Given the description of an element on the screen output the (x, y) to click on. 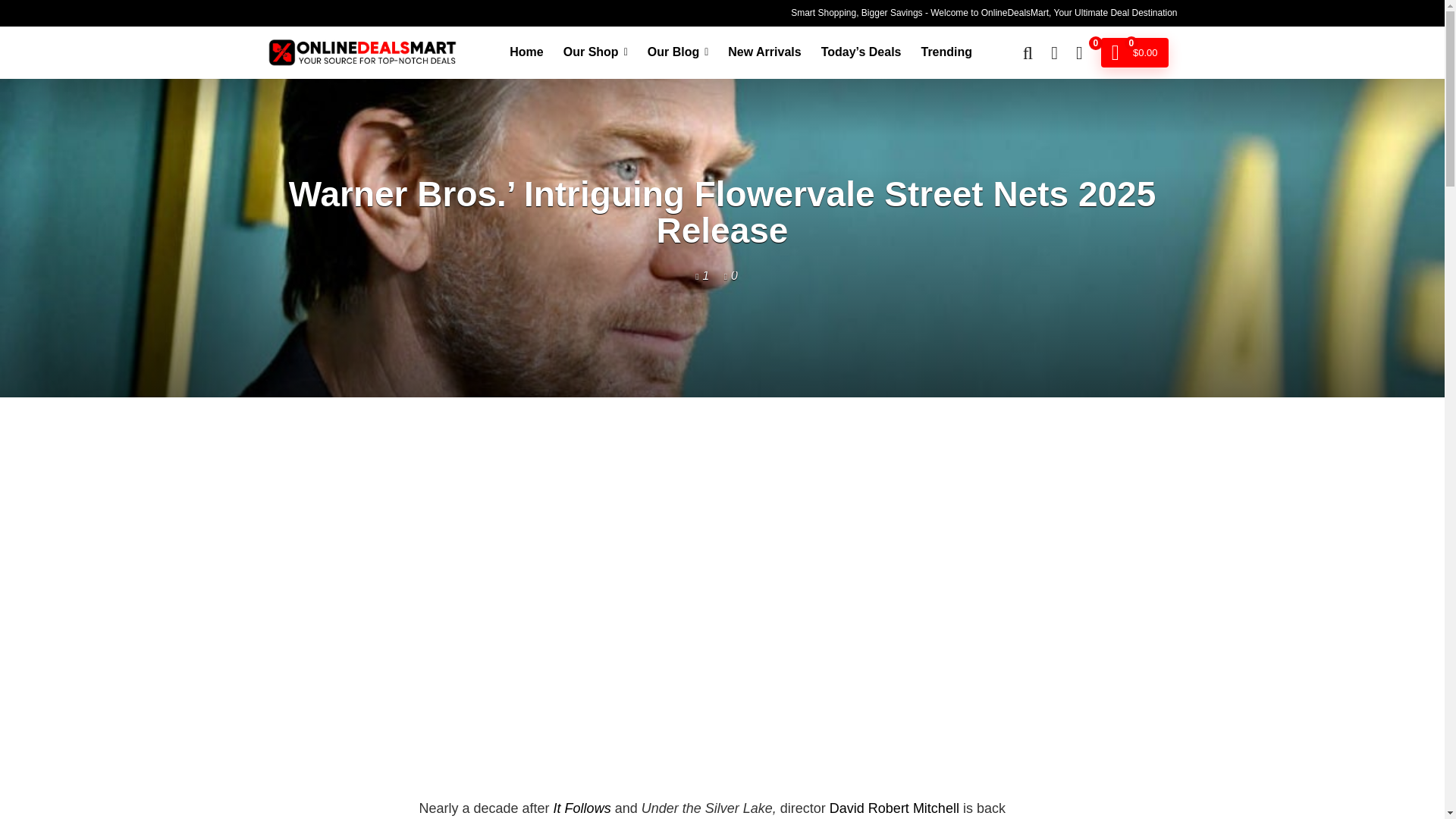
Home (526, 51)
Our Shop (595, 51)
